Given the description of an element on the screen output the (x, y) to click on. 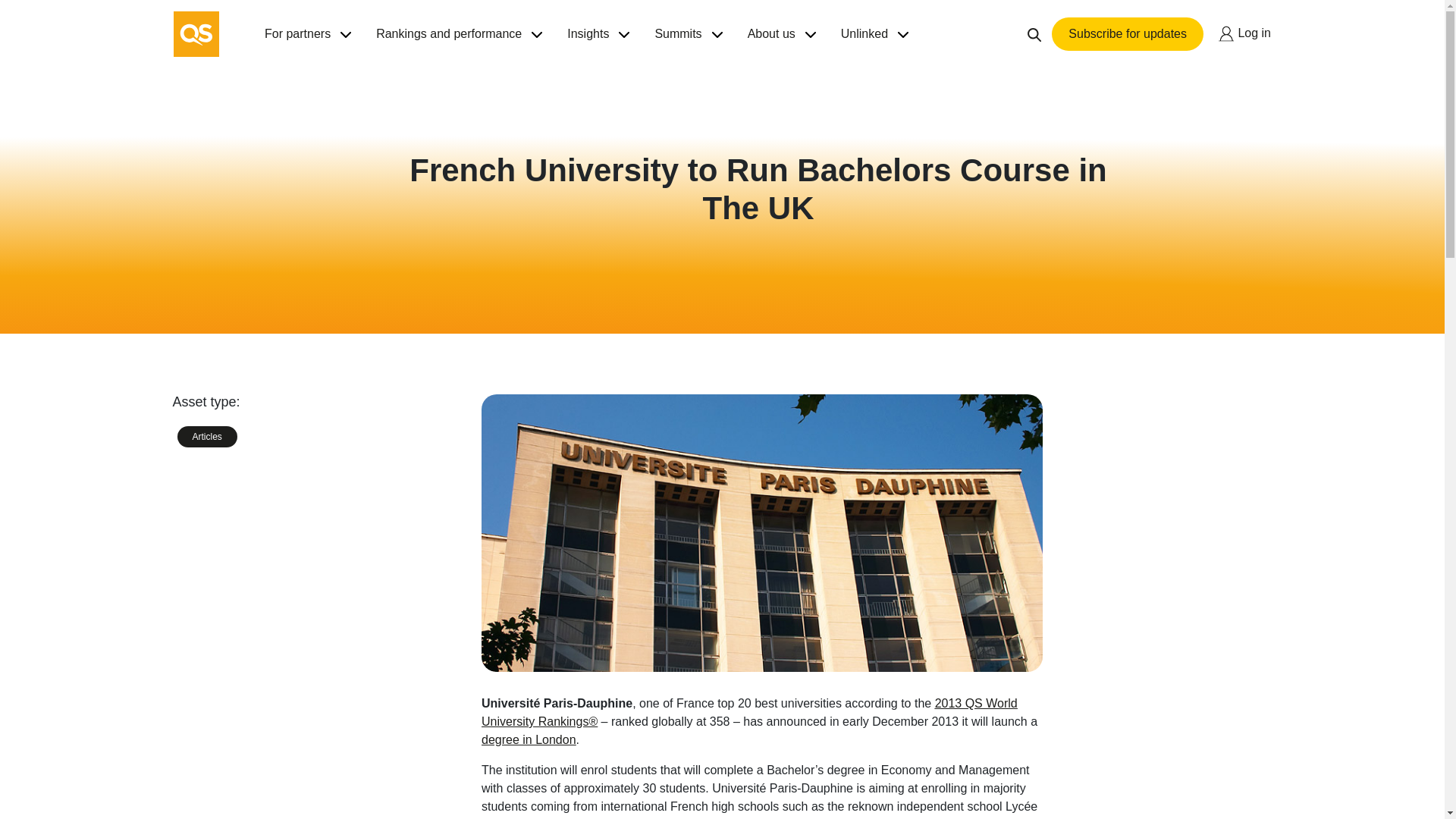
For partners (297, 33)
Rankings and performance (448, 33)
Summits (677, 33)
For partners (297, 33)
Insights (587, 33)
